Given the description of an element on the screen output the (x, y) to click on. 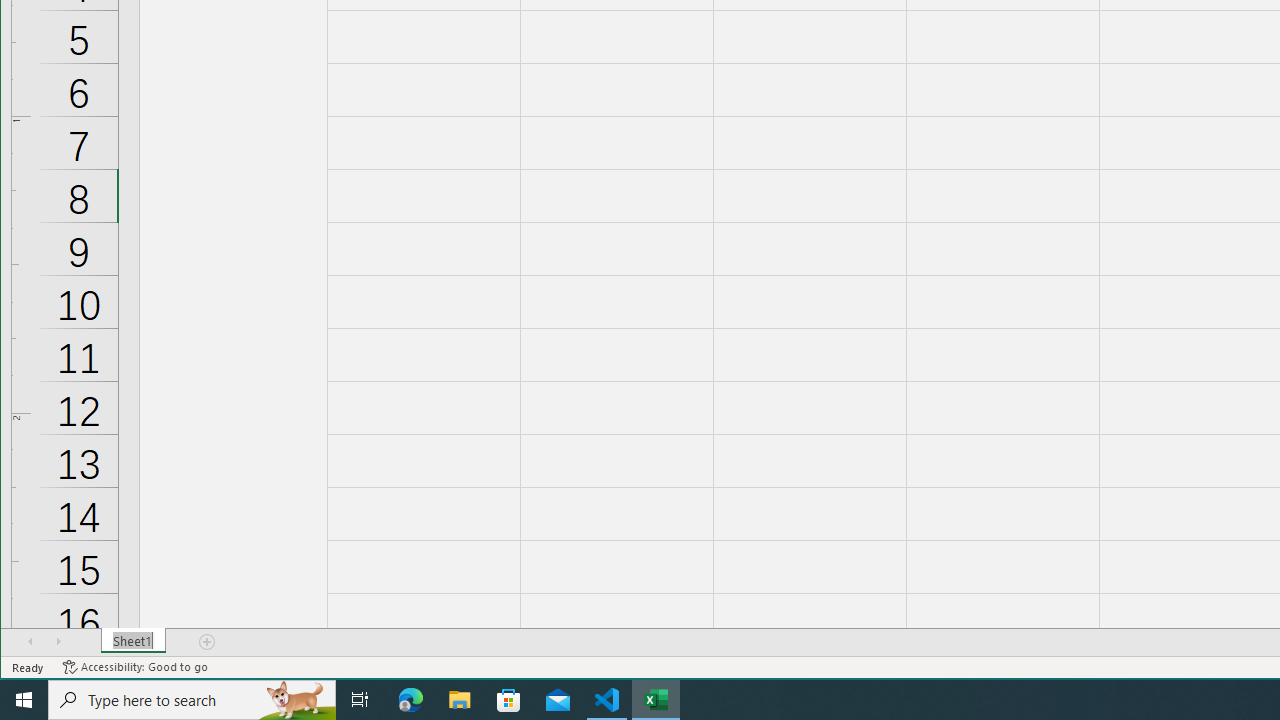
Task View (359, 699)
Type here to search (191, 699)
Search highlights icon opens search home window (295, 699)
Microsoft Store (509, 699)
Start (24, 699)
File Explorer (460, 699)
Microsoft Edge (411, 699)
Visual Studio Code - 1 running window (607, 699)
Sheet Tab (133, 641)
